Given the description of an element on the screen output the (x, y) to click on. 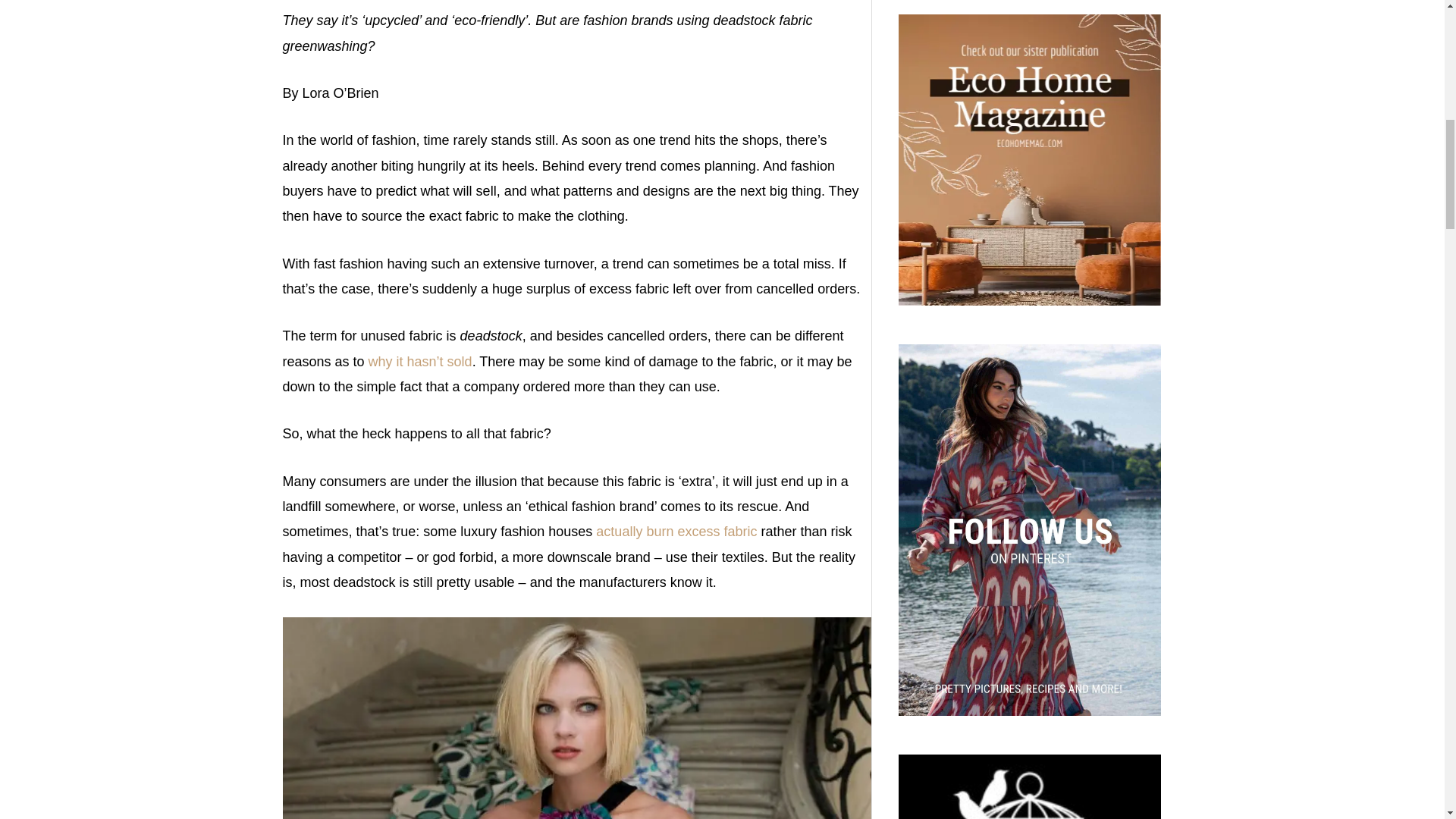
what is deadstock fabric (576, 718)
